Given the description of an element on the screen output the (x, y) to click on. 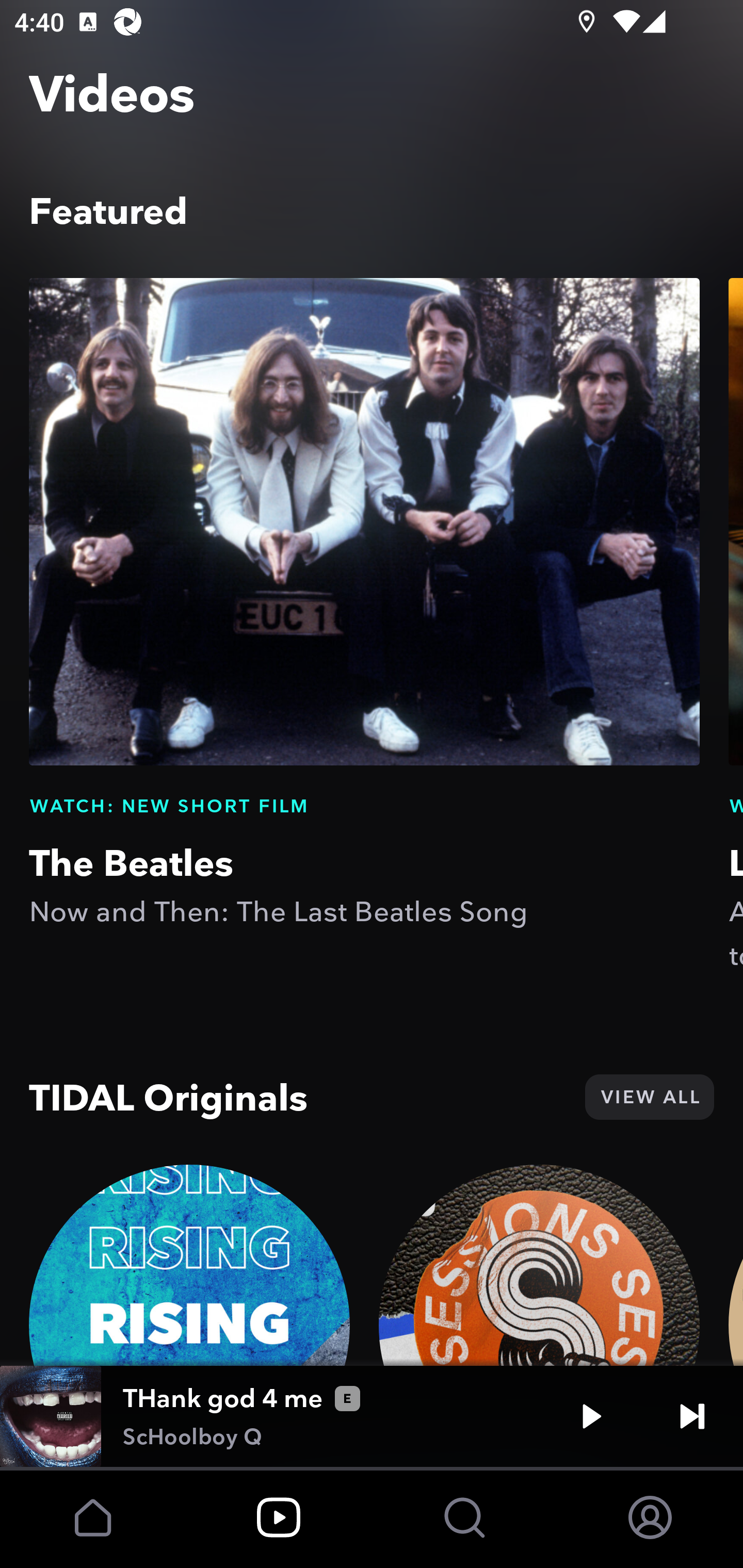
VIEW ALL (649, 1096)
THank god 4 me    ScHoolboy Q Play (371, 1416)
Play (590, 1416)
